Given the description of an element on the screen output the (x, y) to click on. 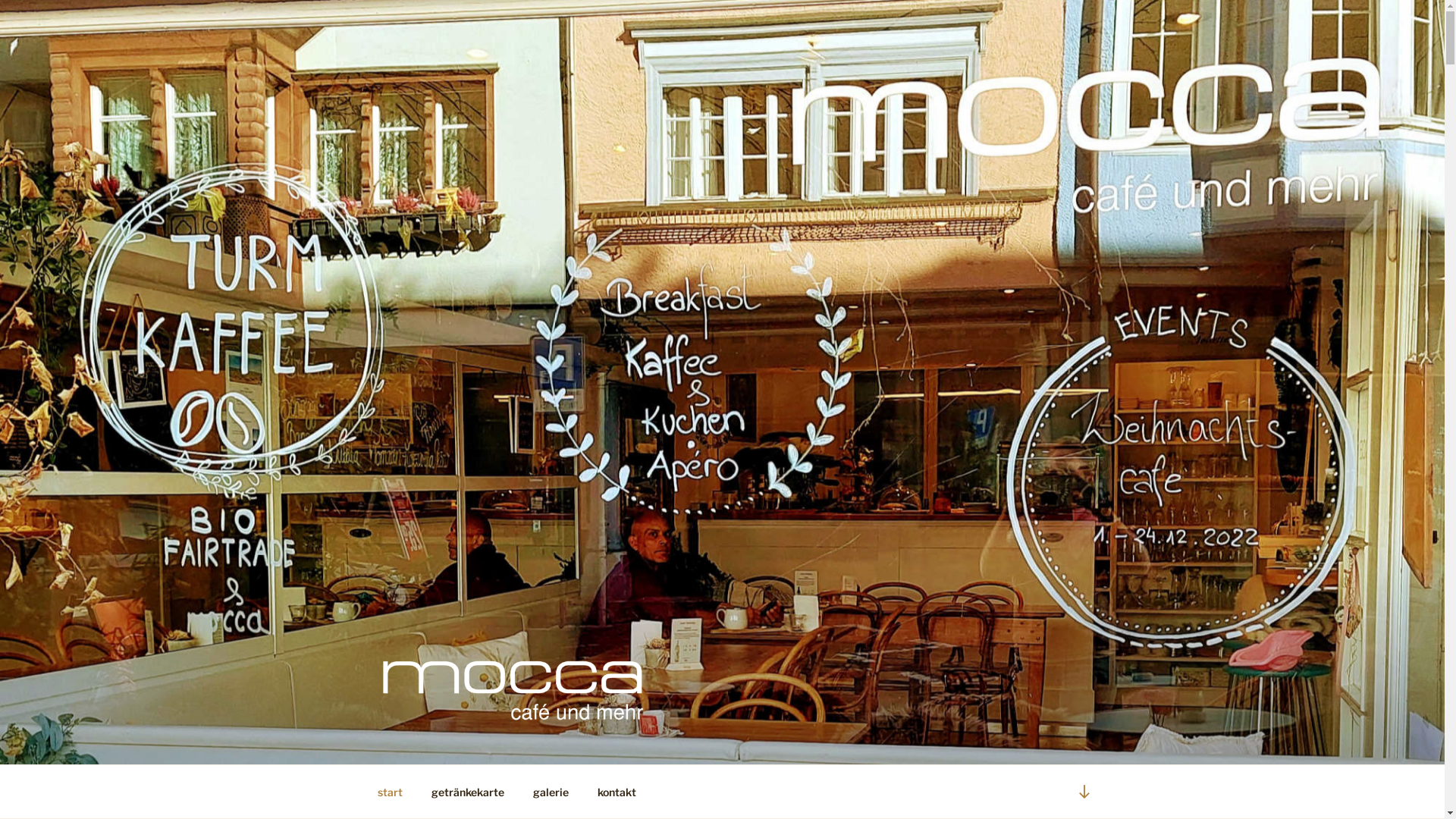
kontakt Element type: text (616, 791)
galerie Element type: text (551, 791)
Zum Inhalt nach unten scrollen Element type: text (1083, 790)
start Element type: text (389, 791)
